Given the description of an element on the screen output the (x, y) to click on. 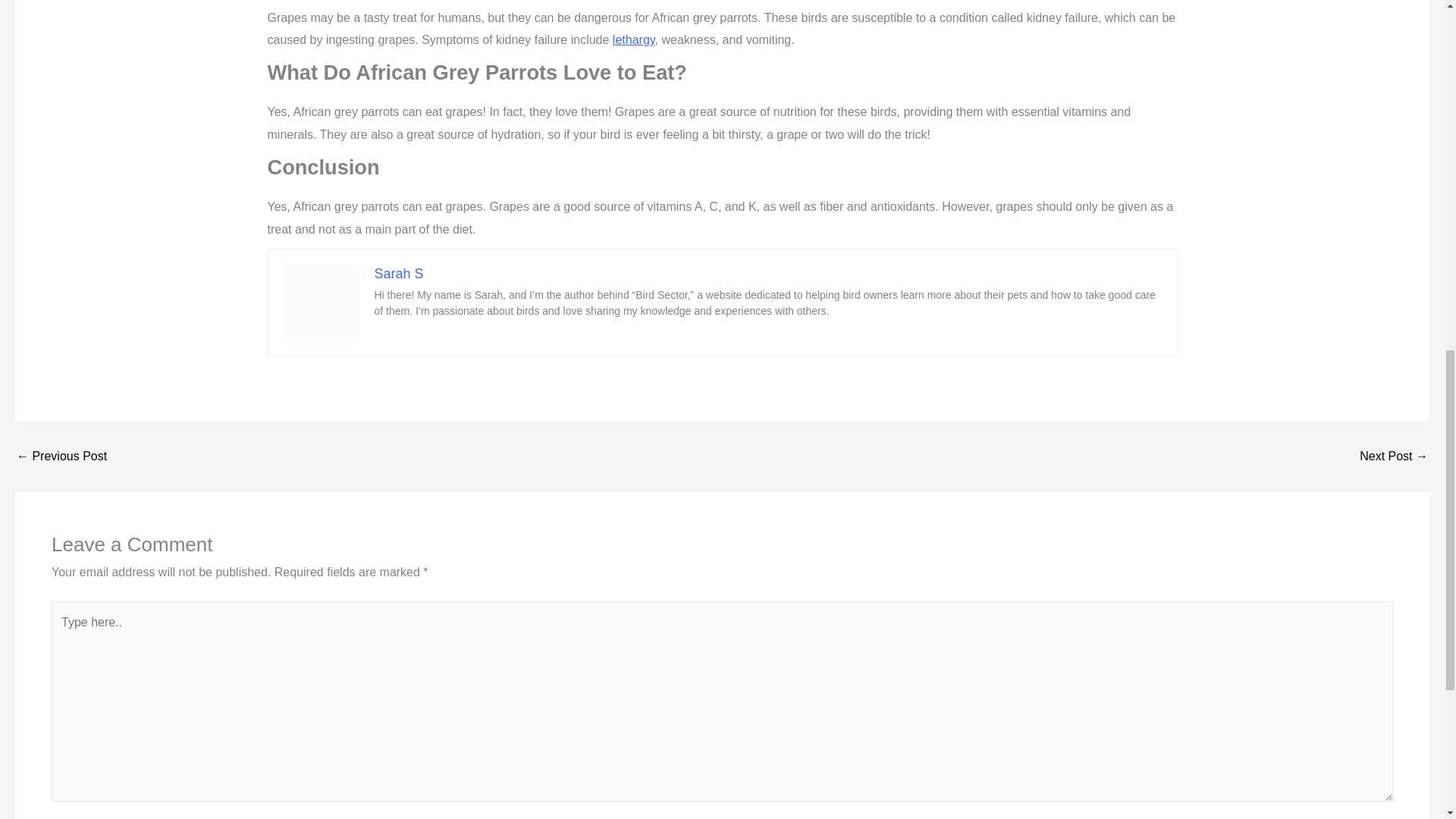
lethargy (633, 39)
Can African Grey Parrot Eat Honey? (1393, 456)
Sarah S (398, 273)
Can African Grey Parrot Eat Fish? (61, 456)
